Given the description of an element on the screen output the (x, y) to click on. 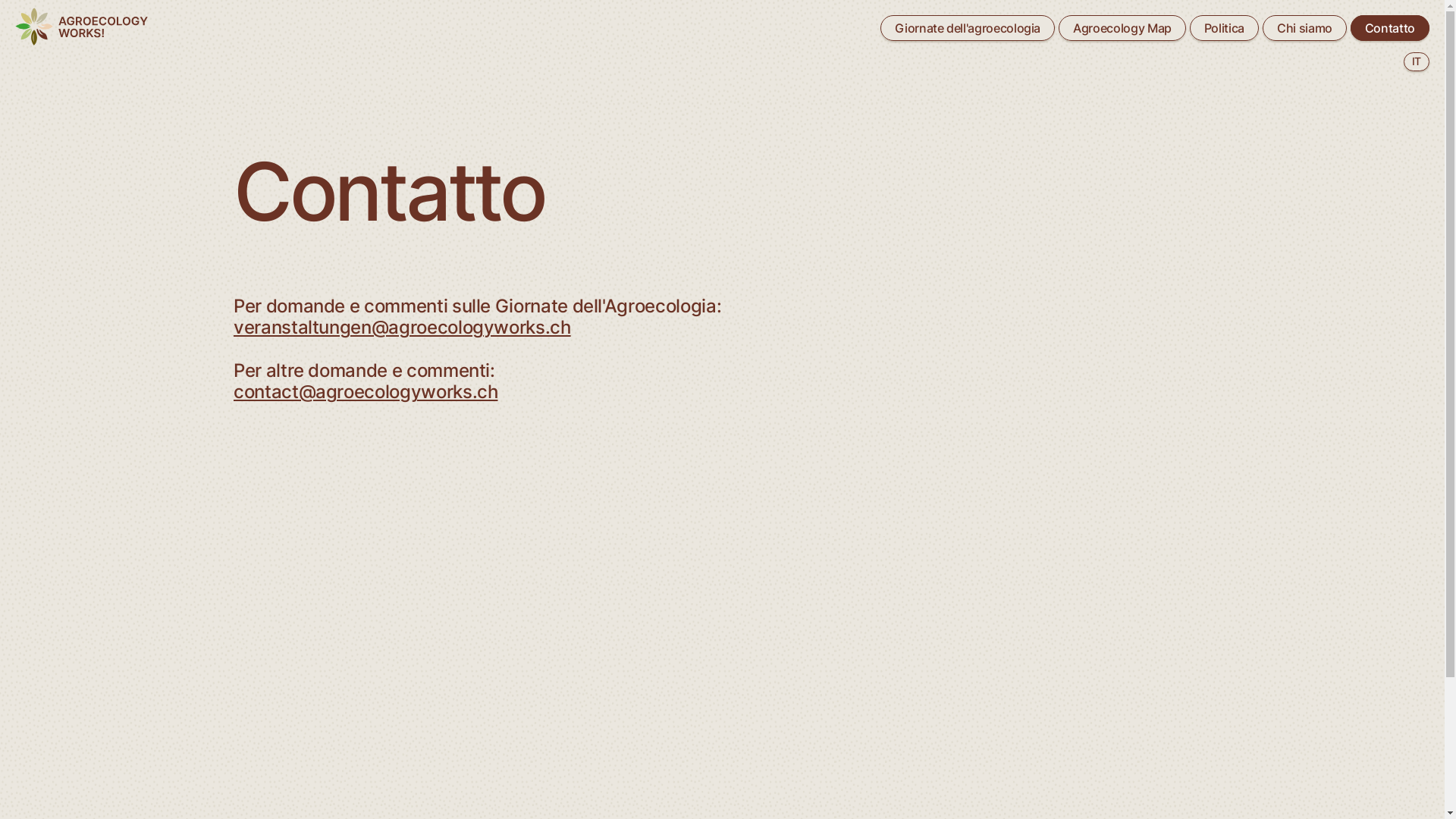
Giornate dell'agroecologia Element type: text (967, 27)
Chi siamo Element type: text (1304, 27)
IT Element type: text (1416, 61)
Contatto Element type: text (1389, 27)
Impressum Element type: text (1068, 699)
Agroecology Map Element type: text (1122, 27)
Politica Element type: text (1223, 27)
Instagram Element type: text (661, 686)
Youtube Element type: text (657, 699)
Twitter Element type: text (654, 724)
Facebook Element type: text (660, 712)
veranstaltungen@agroecologyworks.ch Element type: text (402, 327)
contact@agroecologyworks.ch Element type: text (365, 391)
